Given the description of an element on the screen output the (x, y) to click on. 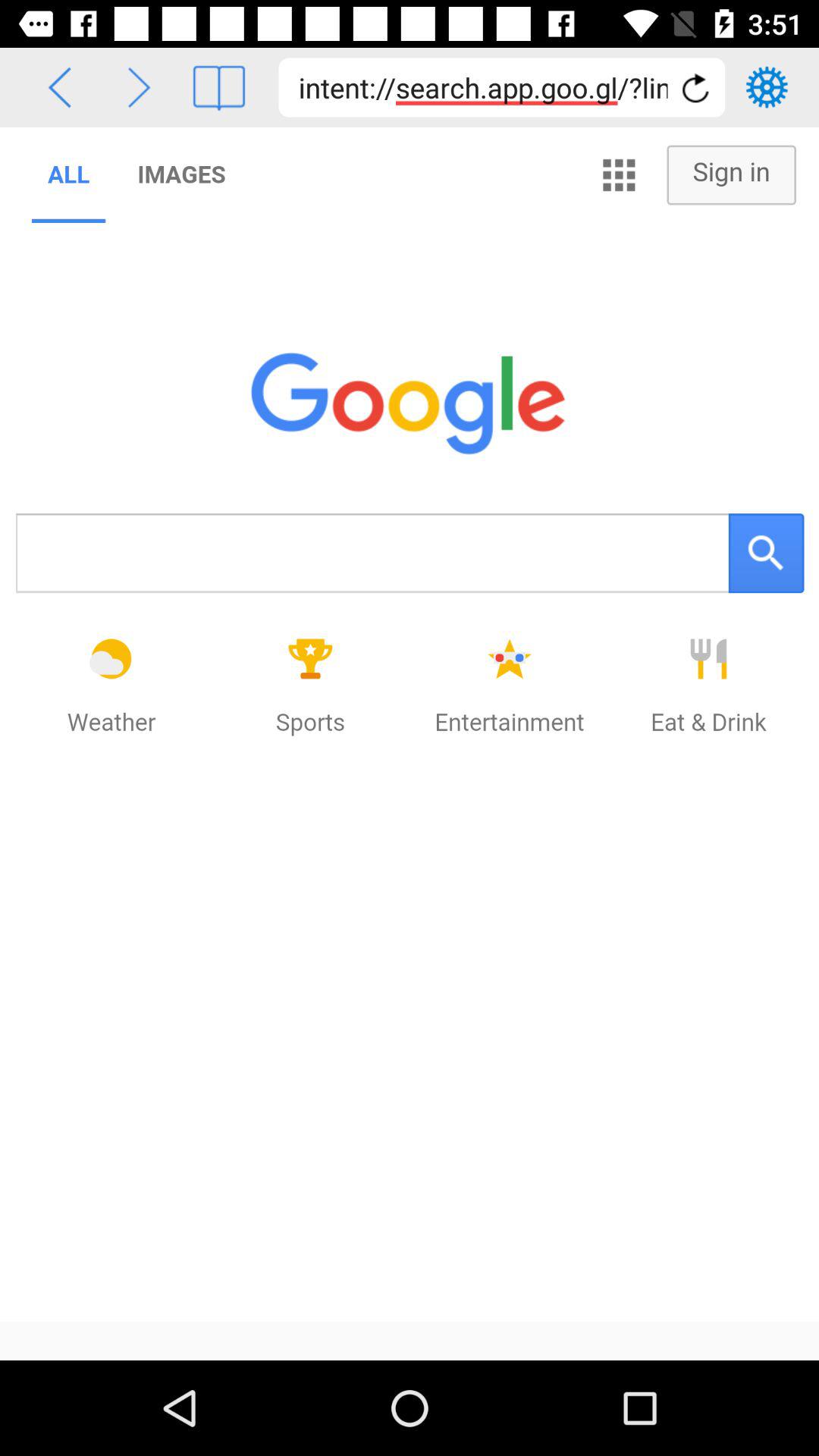
menu page (218, 87)
